Given the description of an element on the screen output the (x, y) to click on. 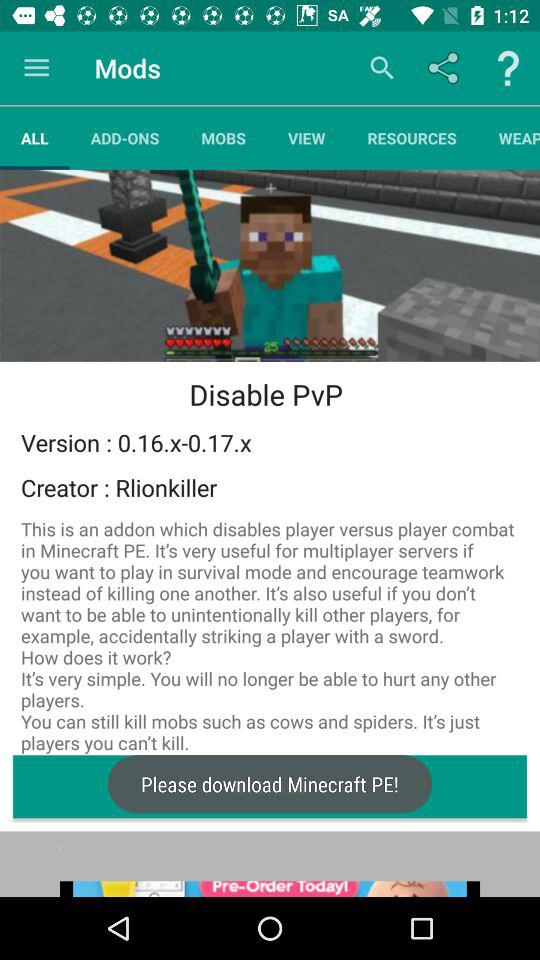
help button (508, 67)
